Given the description of an element on the screen output the (x, y) to click on. 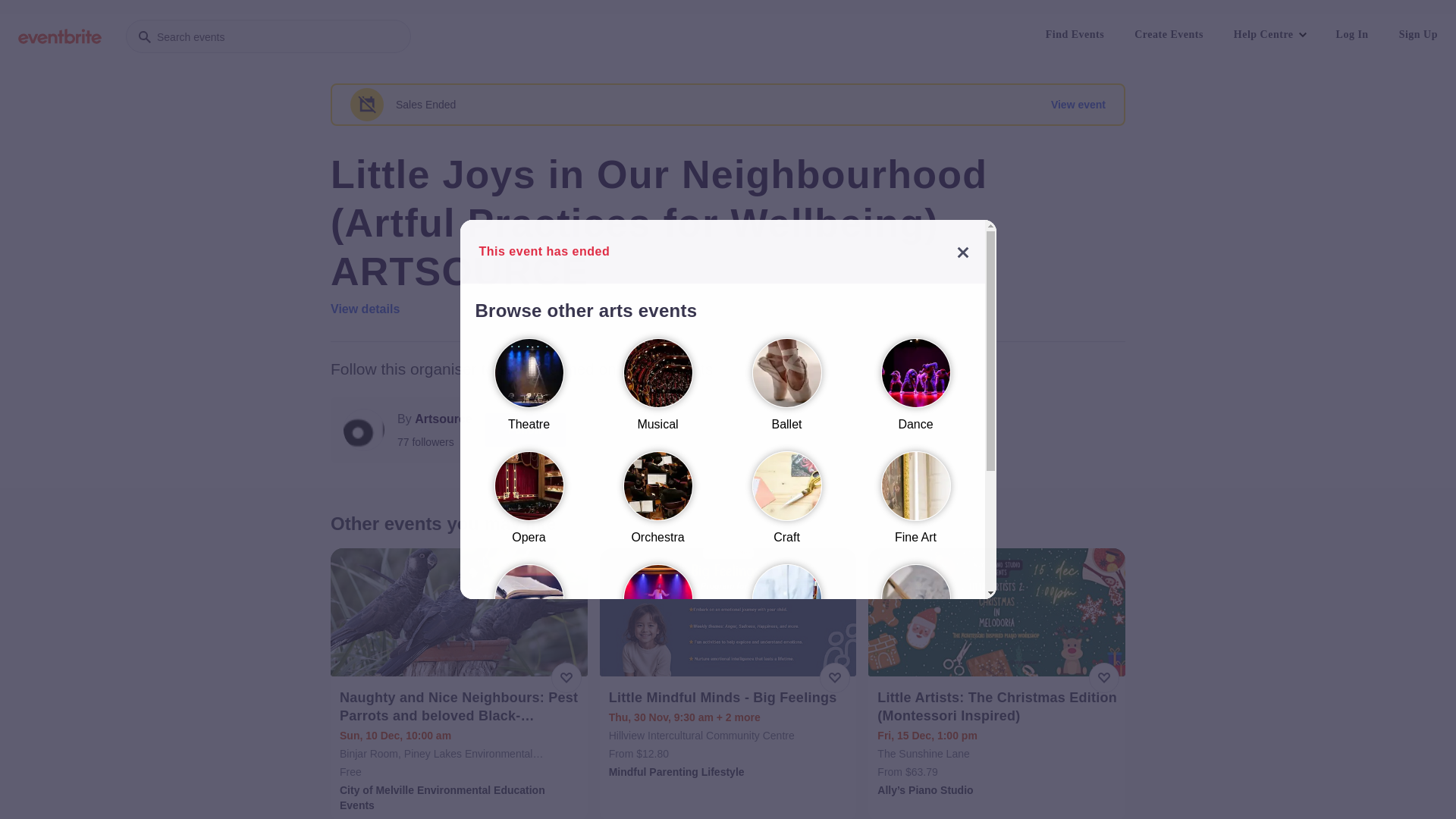
Opera Element type: text (528, 504)
Comedy Element type: text (657, 617)
Little Mindful Minds - Big Feelings Element type: text (729, 697)
Create Events Element type: text (1168, 34)
Orchestra Element type: text (657, 504)
Follow Element type: text (525, 429)
Theatre Element type: text (528, 391)
Log In Element type: text (1352, 34)
Dance Element type: text (914, 391)
Ballet Element type: text (785, 391)
Find Events Element type: text (1074, 34)
Eventbrite Element type: hover (59, 35)
View details Element type: text (364, 309)
Craft Element type: text (785, 504)
Painting Element type: text (785, 617)
View event Element type: text (1078, 104)
Design Element type: text (914, 617)
Search events Element type: text (268, 36)
Literary Arts Element type: text (528, 617)
Jewelry Element type: text (528, 730)
Little Artists: The Christmas Edition (Montessori Inspired) Element type: text (998, 706)
Sign Up Element type: text (1417, 34)
Fine Art Element type: text (914, 504)
Musical Element type: text (657, 391)
